Given the description of an element on the screen output the (x, y) to click on. 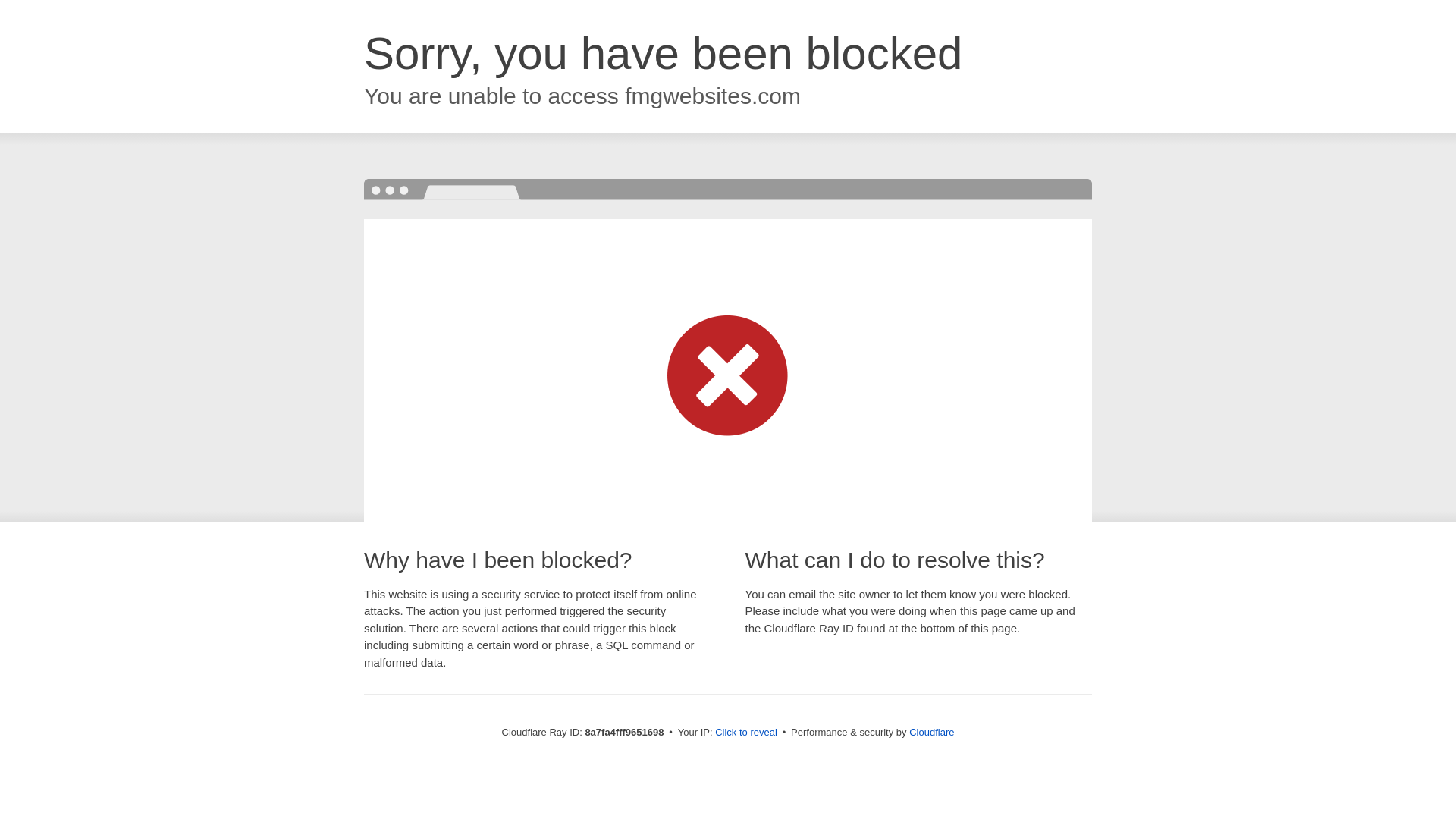
Cloudflare (930, 731)
Click to reveal (745, 732)
